Given the description of an element on the screen output the (x, y) to click on. 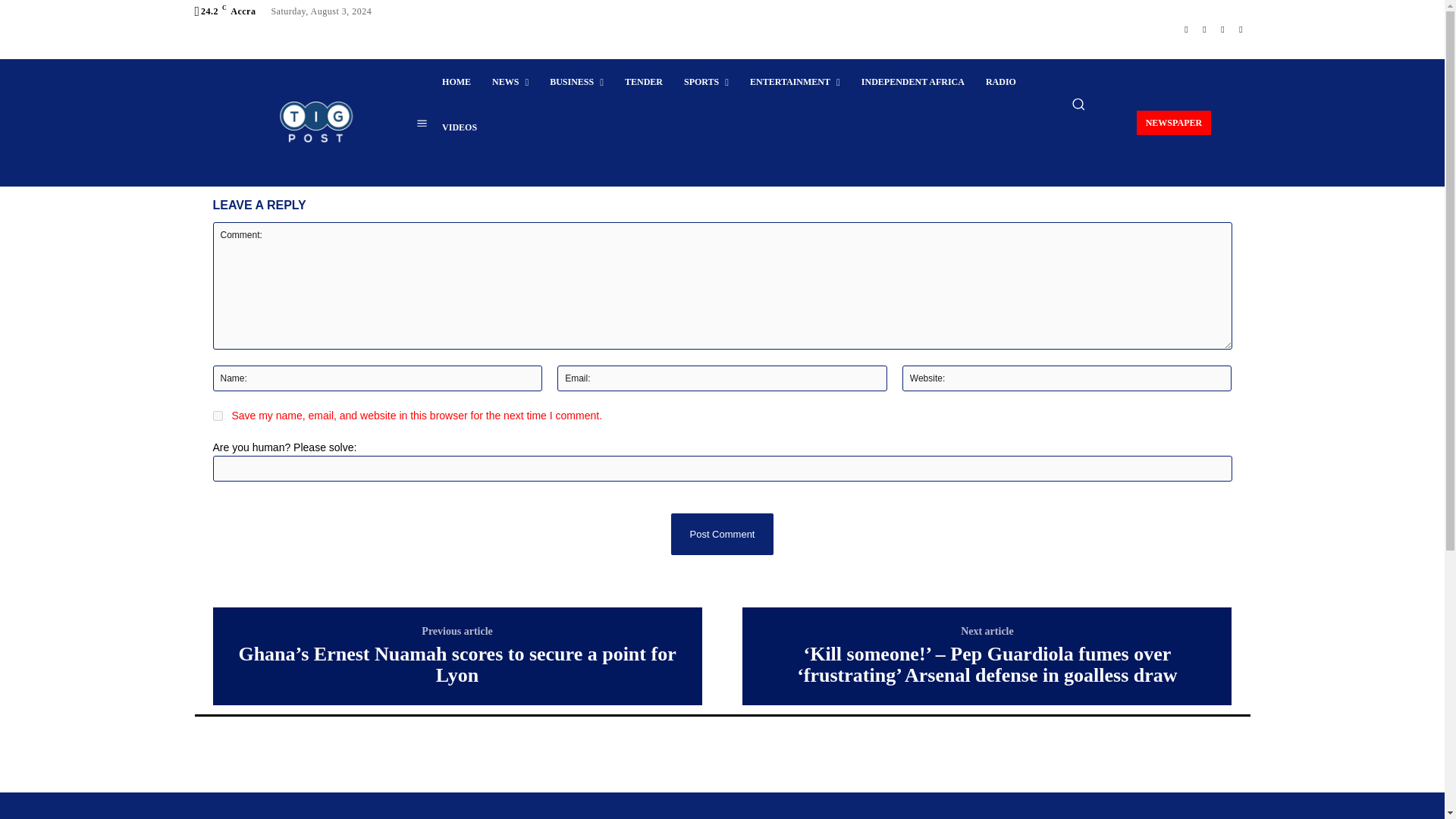
HOME (455, 81)
BUSINESS (576, 81)
yes (217, 415)
Instagram (1203, 29)
NEWSPAPER (1174, 122)
Post Comment (721, 534)
Youtube (1240, 29)
Twitter (1221, 29)
NEWS (509, 81)
Facebook (1185, 29)
